Given the description of an element on the screen output the (x, y) to click on. 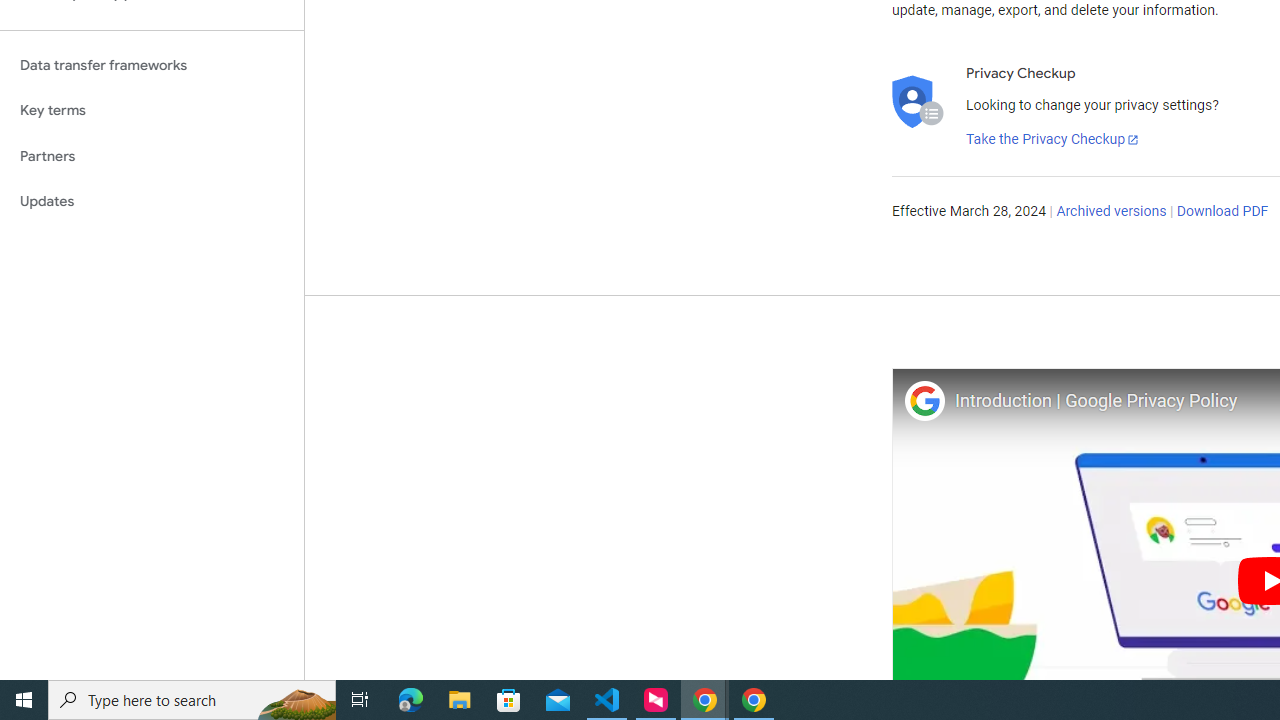
Data transfer frameworks (152, 65)
Key terms (152, 110)
Photo image of Google (924, 400)
Take the Privacy Checkup (1053, 140)
Updates (152, 201)
Partners (152, 156)
Download PDF (1222, 212)
Archived versions (1111, 212)
